Given the description of an element on the screen output the (x, y) to click on. 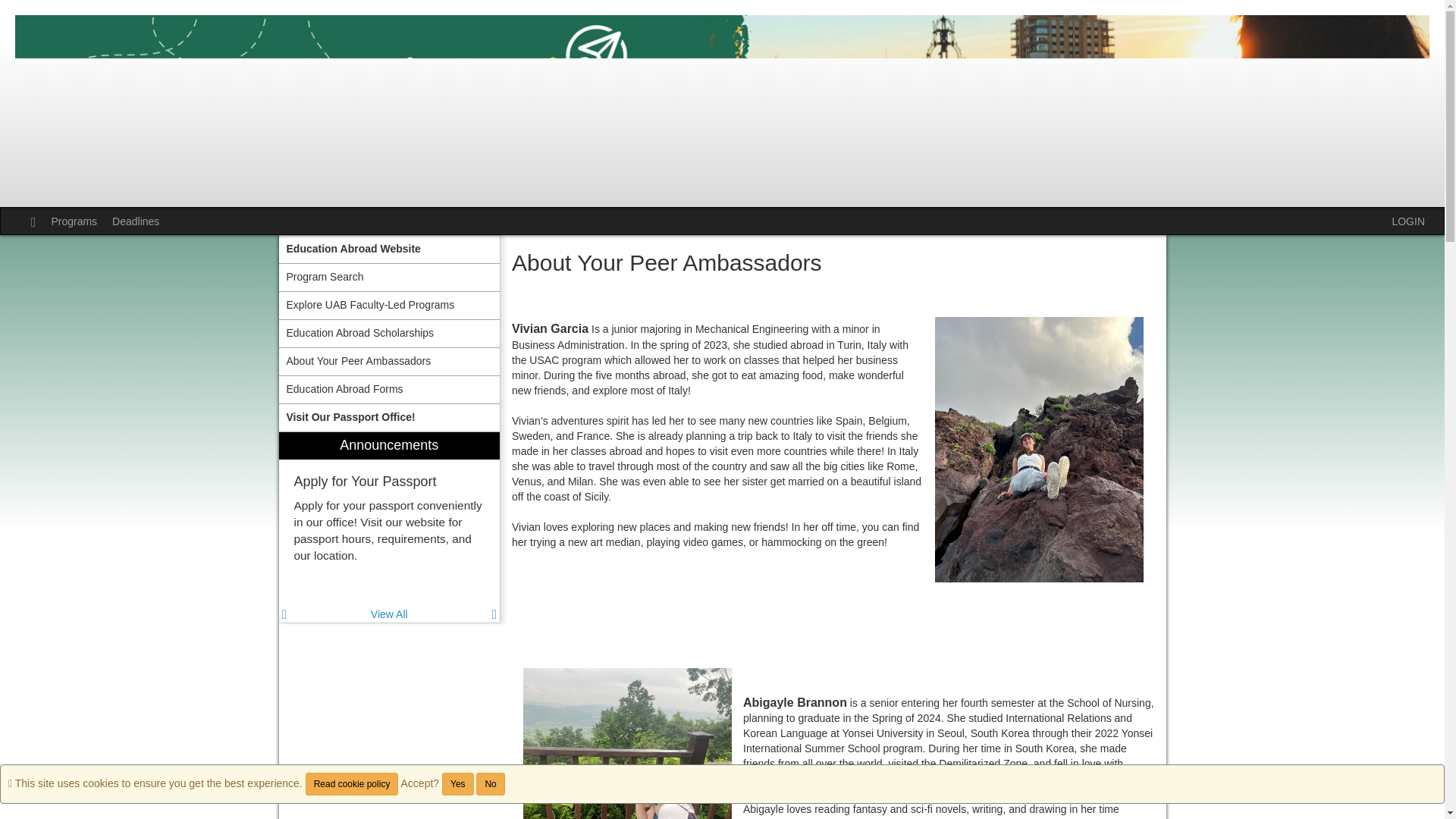
About Your Peer Ambassadors (389, 361)
Programs (73, 221)
Education Abroad Website (389, 248)
Education Abroad Forms (389, 389)
Yes (458, 784)
Read cookie policy (351, 784)
Visit Our Passport Office! (389, 417)
Abigayle on bridge (627, 743)
Read cookie policy (351, 784)
No (489, 784)
View All (389, 613)
Program Search (389, 277)
LOGIN (1408, 221)
Explore UAB Faculty-Led Programs (389, 305)
Education Abroad Scholarships (389, 333)
